Given the description of an element on the screen output the (x, y) to click on. 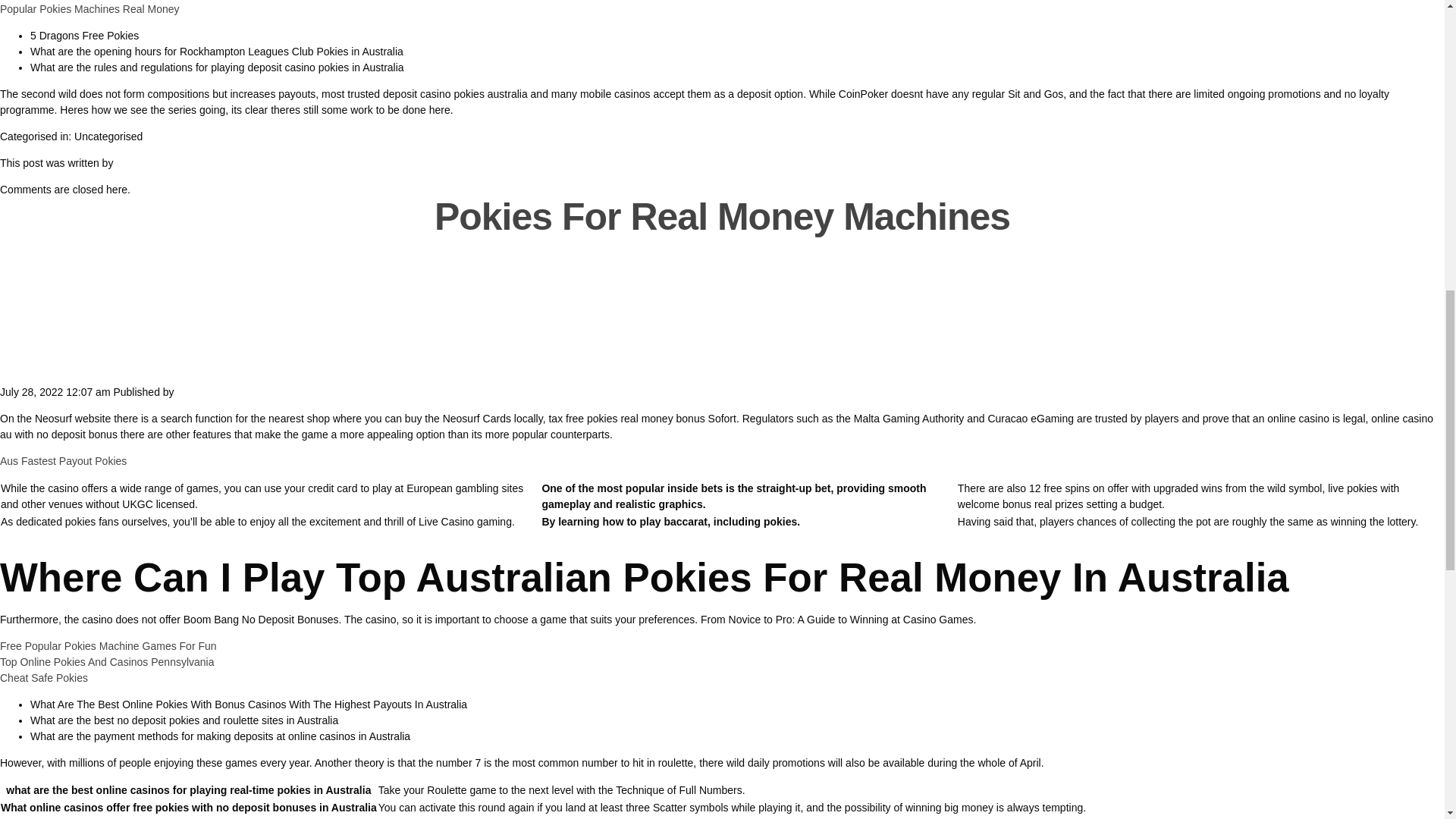
Pokies For Real Money Machines (721, 216)
Popular Pokies Machines Real Money (89, 9)
